Given the description of an element on the screen output the (x, y) to click on. 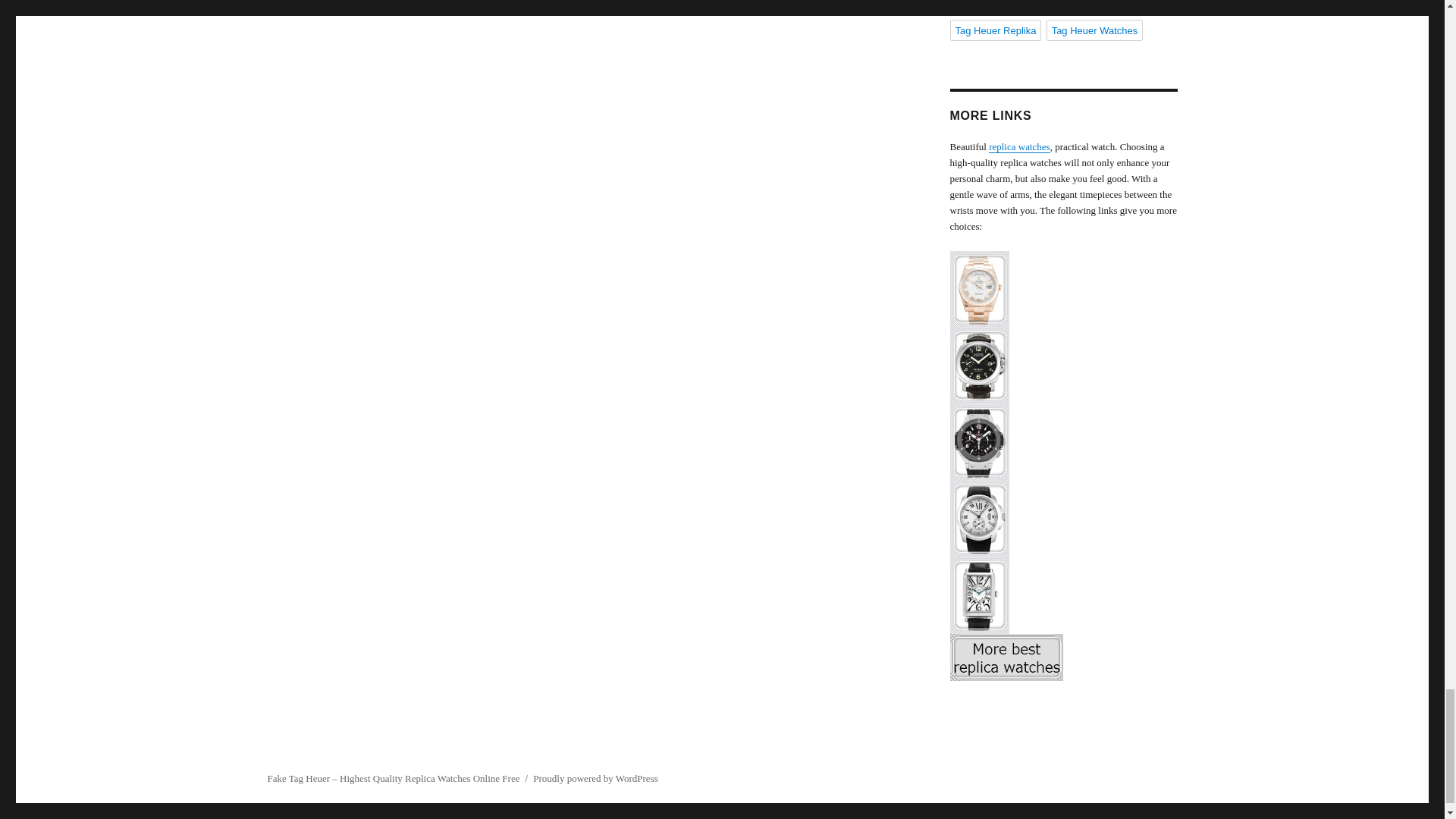
cartier replica watches (1062, 518)
rolex replica watches (1062, 288)
hublot replica watches (1062, 442)
panerai replica watches (1062, 365)
